Given the description of an element on the screen output the (x, y) to click on. 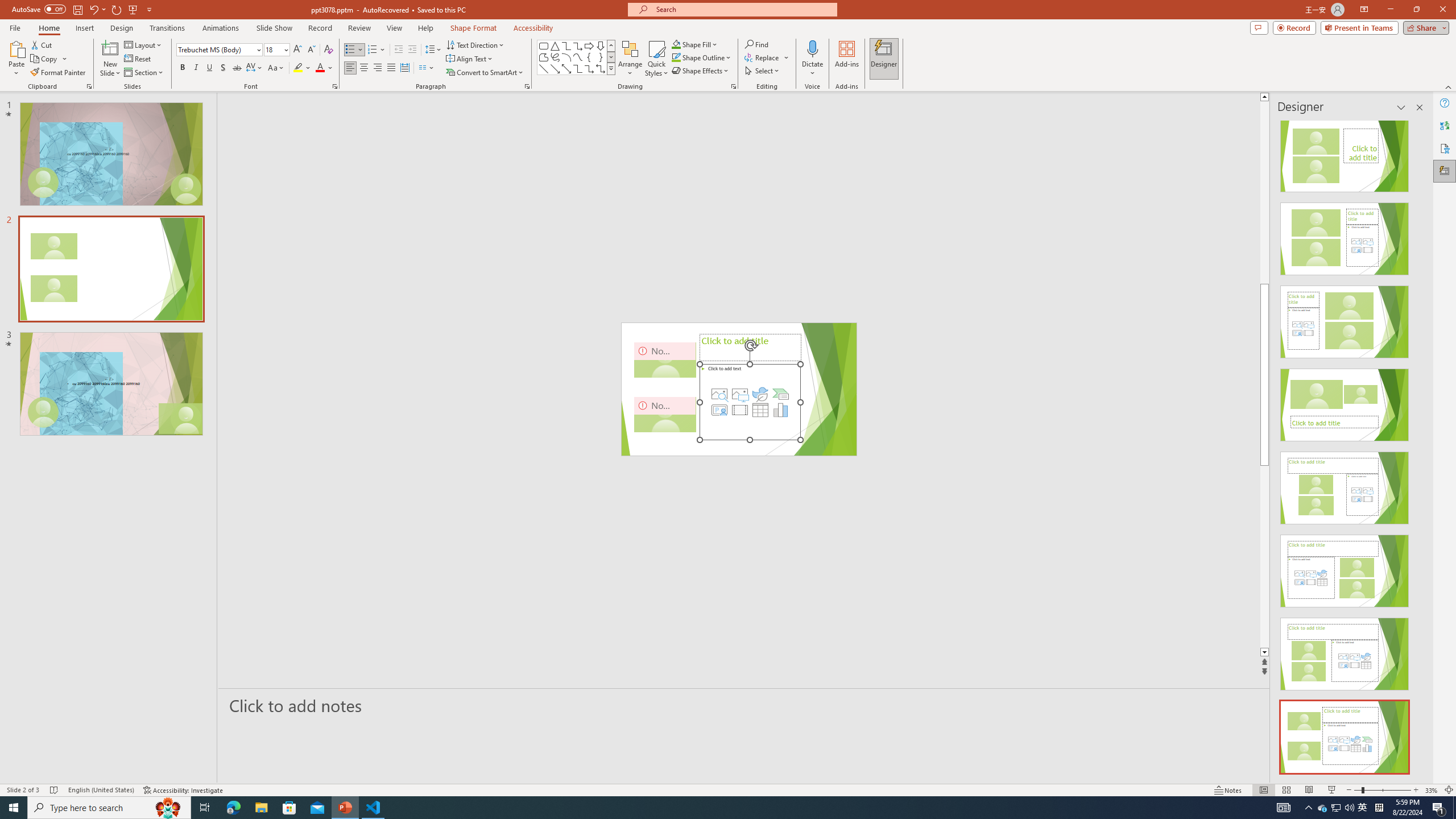
Line Arrow: Double (566, 68)
Insert a SmartArt Graphic (780, 394)
